Given the description of an element on the screen output the (x, y) to click on. 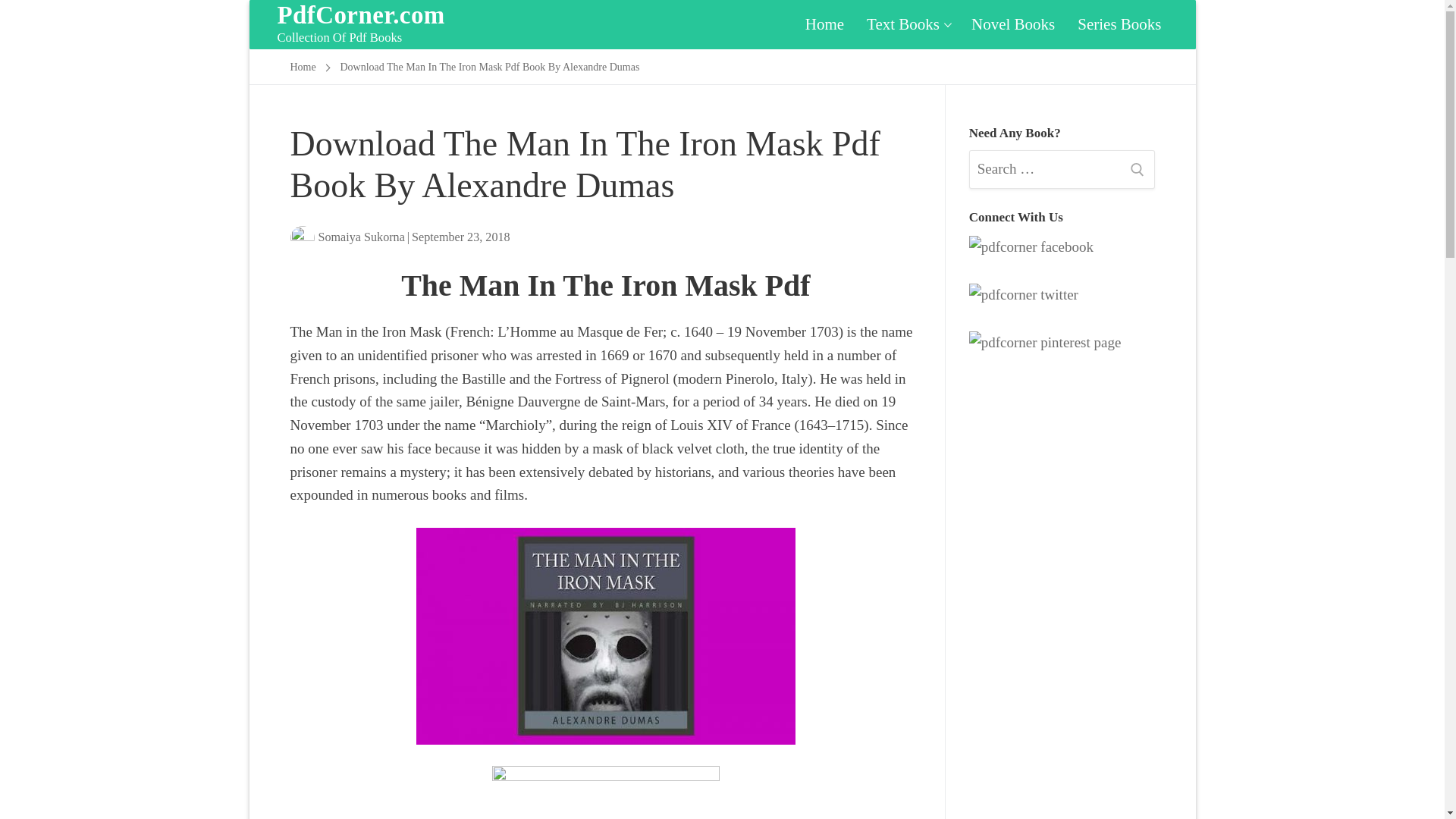
September 23, 2018 (461, 236)
Somaiya Sukorna (346, 236)
PdfCorner.com (361, 15)
Search for: (1061, 169)
Novel Books (907, 24)
Home (1012, 24)
Home (824, 24)
Series Books (302, 66)
